Given the description of an element on the screen output the (x, y) to click on. 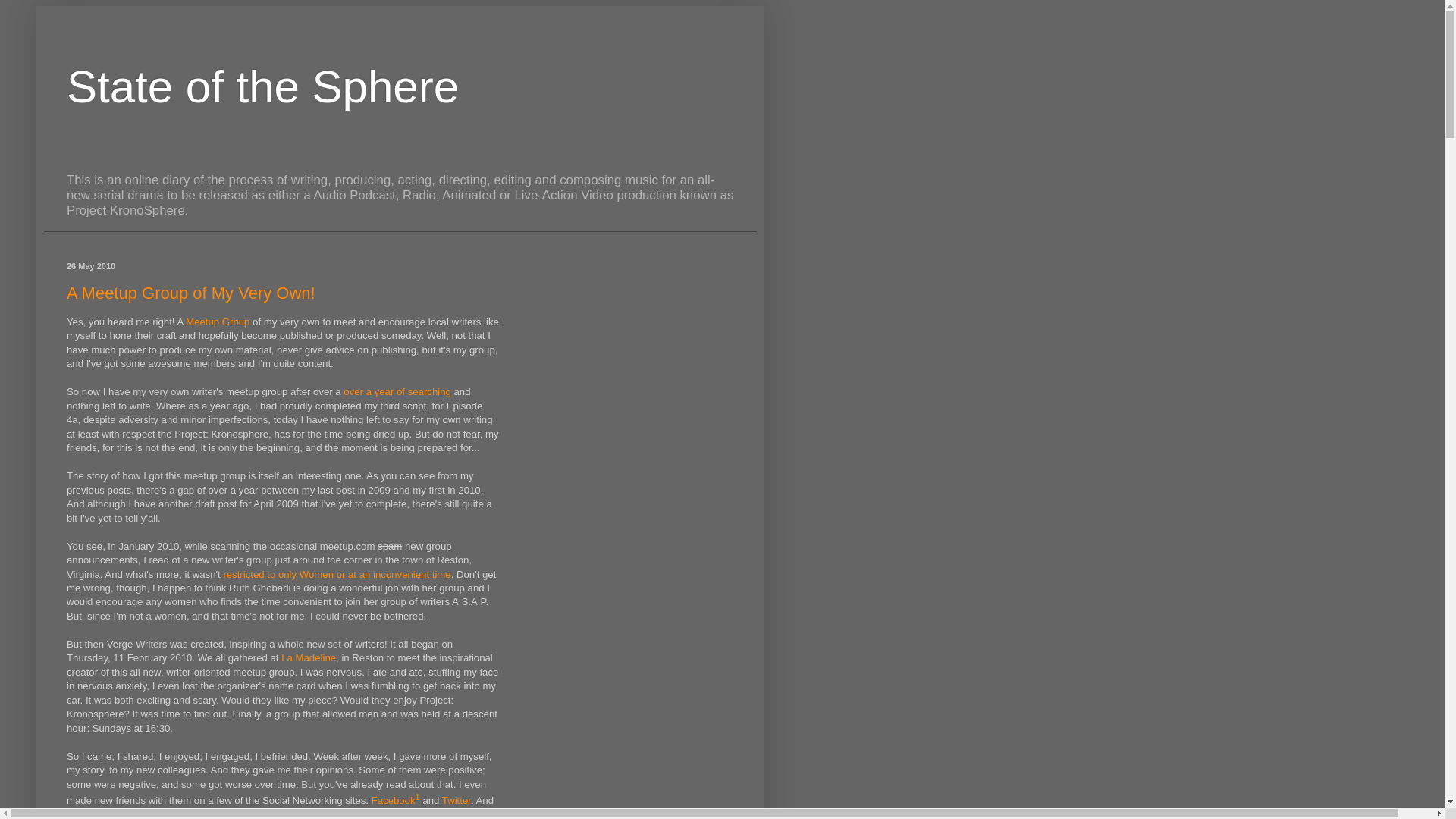
Twitter (456, 800)
State of the Sphere (262, 86)
A Meetup Group of My Very Own! (190, 292)
restricted to only Women or at an inconvenient time (335, 573)
over a year of searching (396, 391)
Loudoun County Writers Group (408, 814)
Meetup Group (217, 321)
Facebook (392, 800)
La Madeline (308, 657)
